Given the description of an element on the screen output the (x, y) to click on. 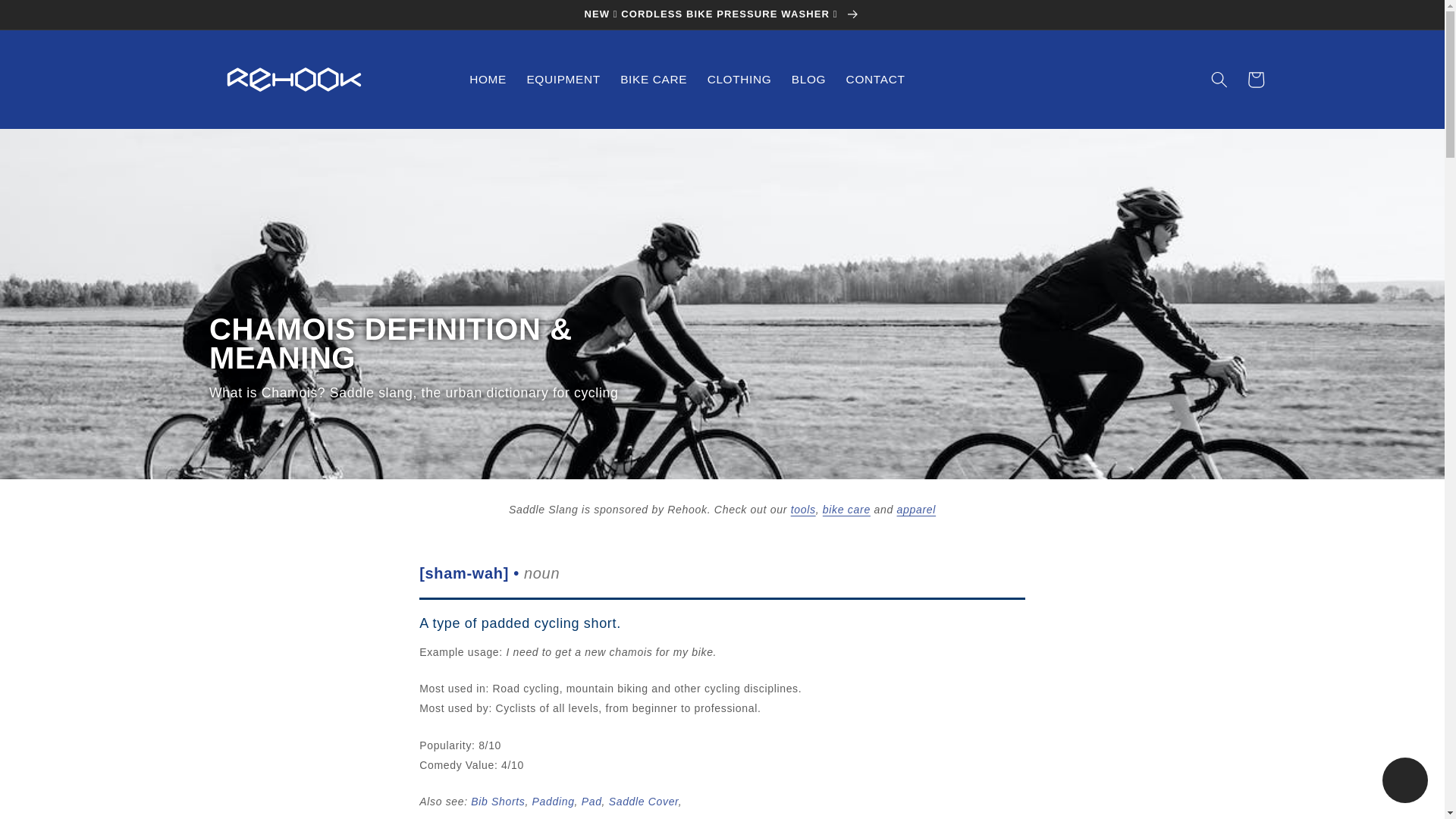
Skip to content (50, 19)
Padding (553, 801)
Bib Shorts (497, 801)
HOME (488, 79)
bike care (846, 509)
CLOTHING (738, 79)
BIKE CARE (653, 79)
Pad (591, 801)
Saddle Cover (643, 801)
EQUIPMENT (563, 79)
